Given the description of an element on the screen output the (x, y) to click on. 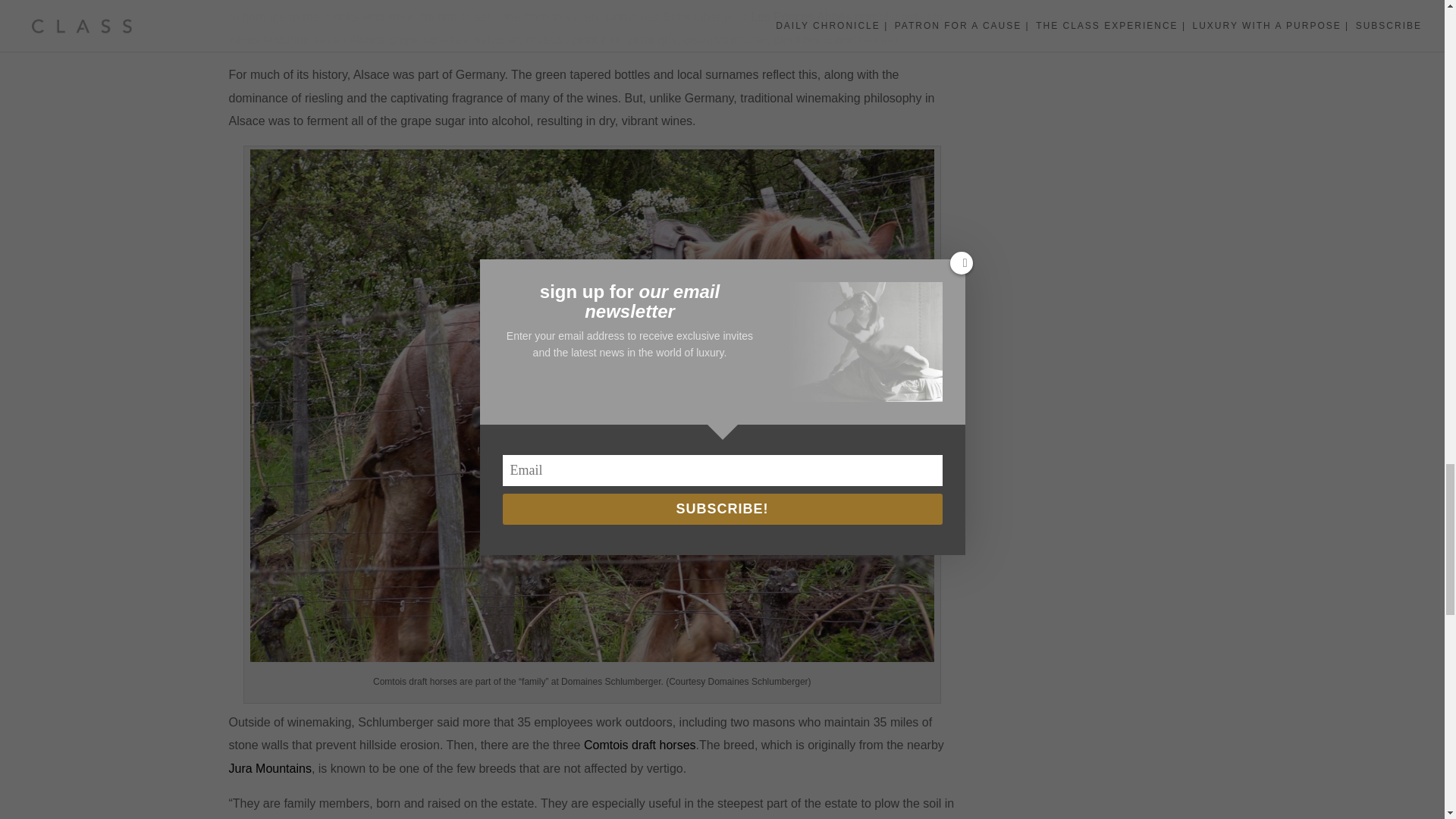
Jura Mountains (269, 768)
Comtois draft horses (639, 744)
